Given the description of an element on the screen output the (x, y) to click on. 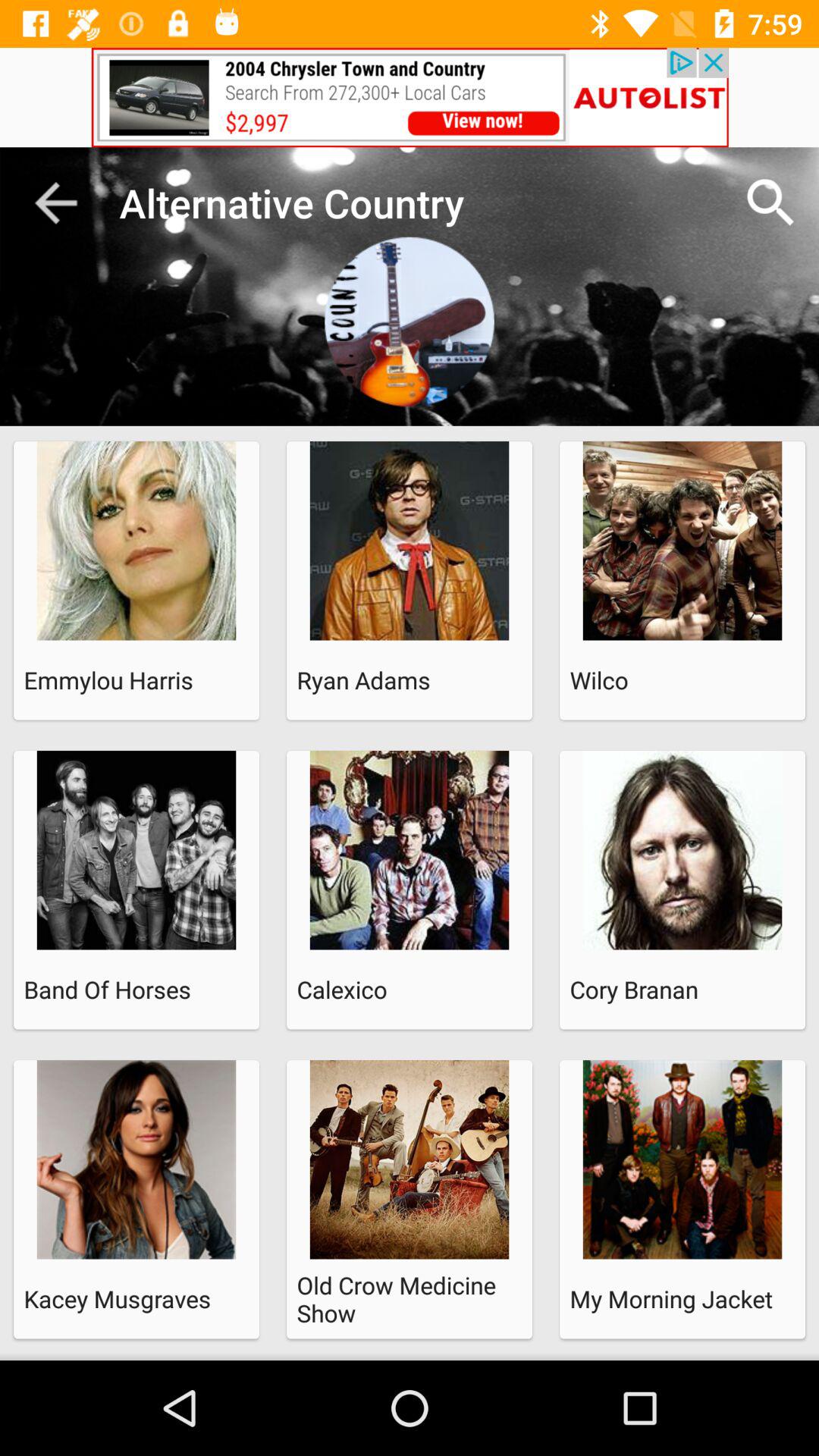
advertisement page (409, 97)
